Given the description of an element on the screen output the (x, y) to click on. 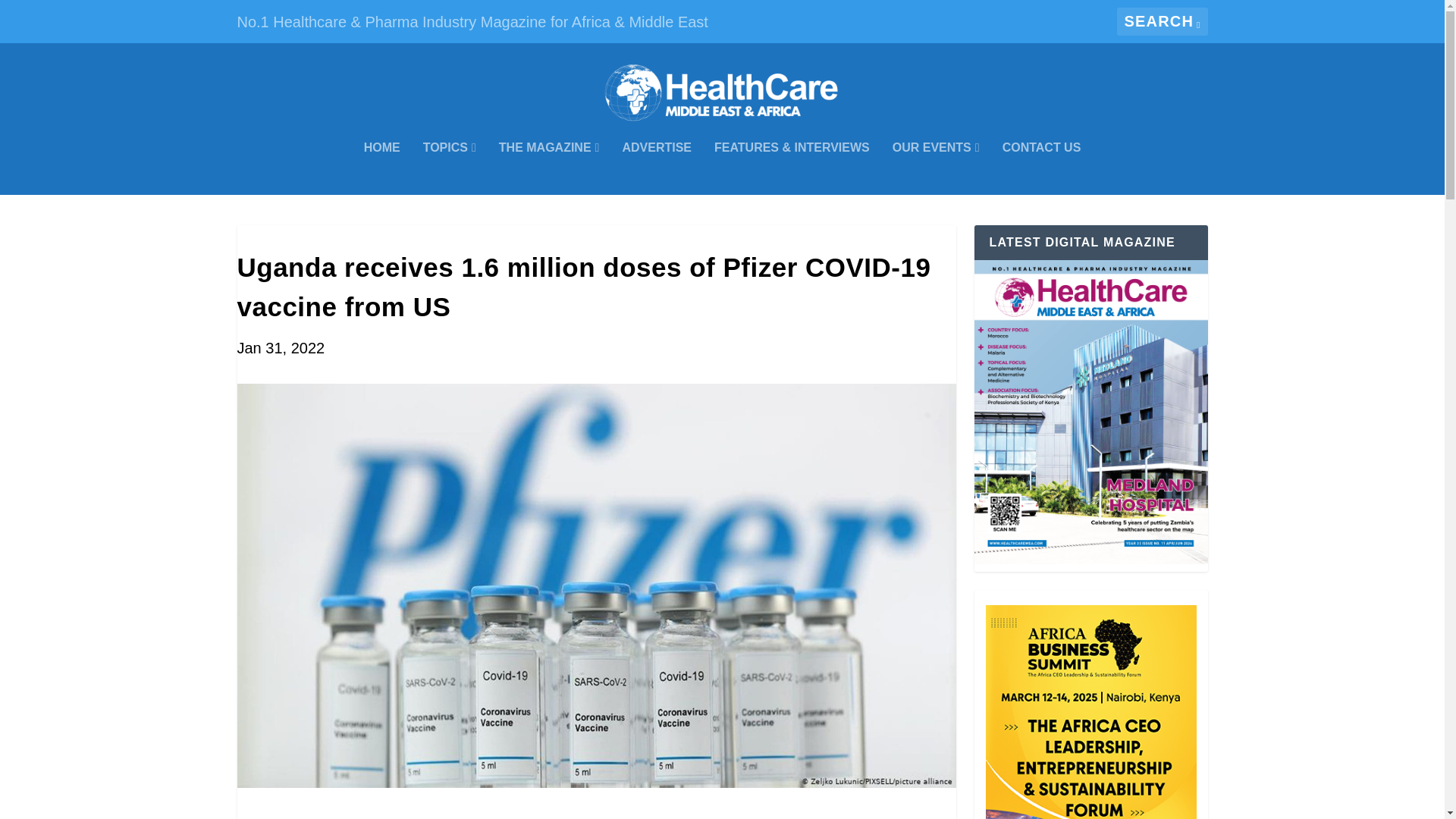
TOPICS (449, 167)
ADVERTISE (656, 167)
OUR EVENTS (935, 167)
OUR EVENTS (935, 167)
THE MAGAZINE (549, 167)
CONTACT US (1042, 167)
Search for: (1161, 21)
